Given the description of an element on the screen output the (x, y) to click on. 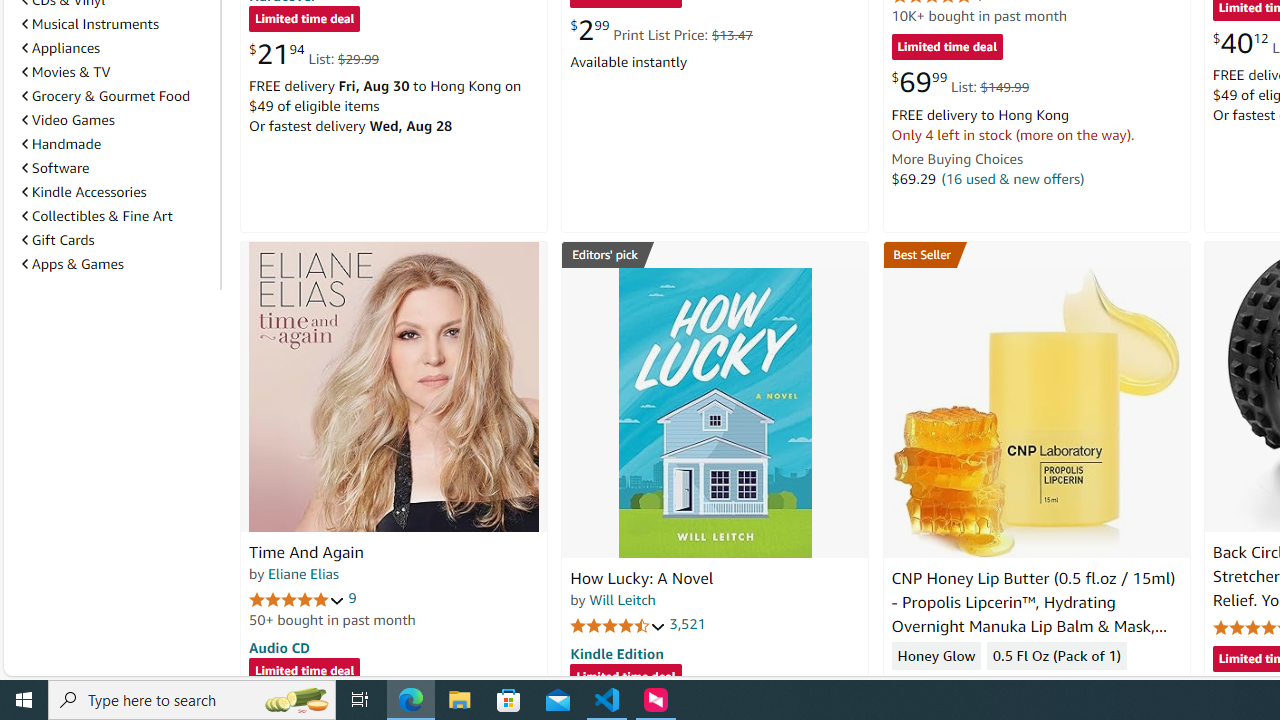
Video Games (68, 119)
Audio CD (279, 646)
Eliane Elias (303, 573)
5.0 out of 5 stars (297, 598)
Apps & Games (72, 263)
Time And Again (306, 552)
(16 used & new offers) (1012, 178)
Collectibles & Fine Art (96, 215)
Editors' pick Best Mystery, Thriller & Suspense (715, 254)
Best Seller in Lip Butters (1036, 254)
Movies & TV (66, 71)
Software (55, 168)
